Given the description of an element on the screen output the (x, y) to click on. 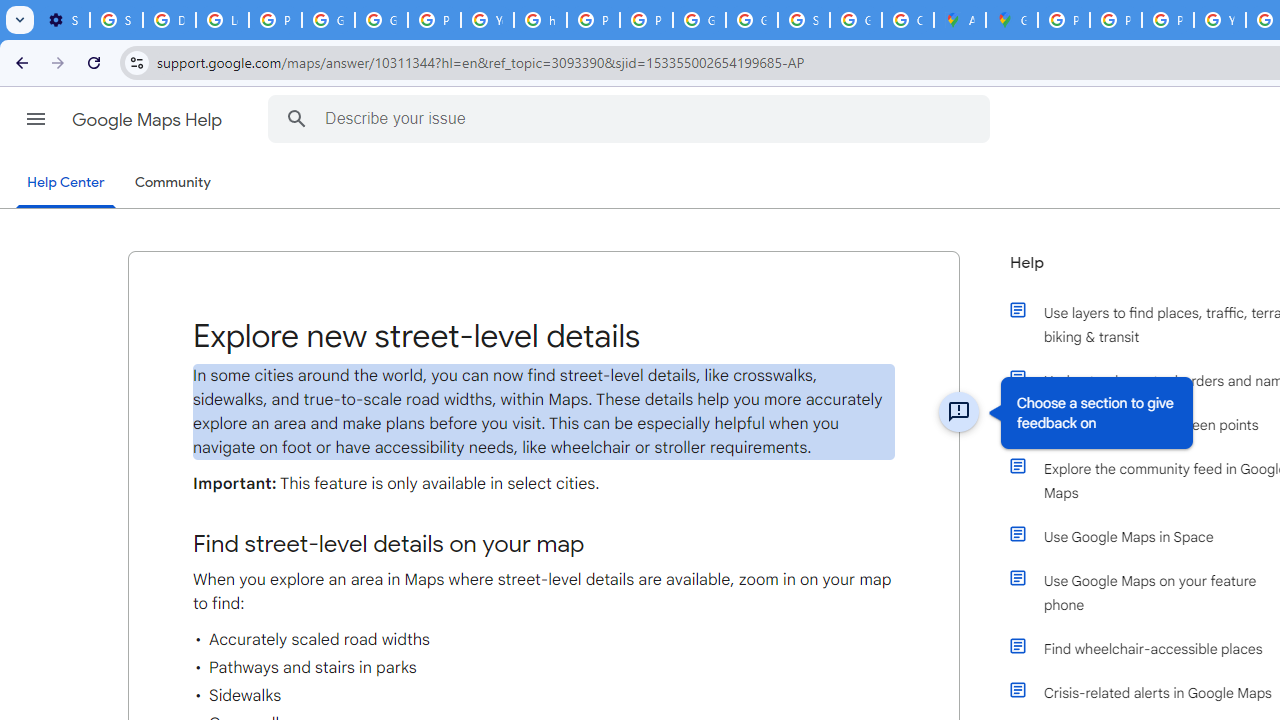
Google Account Help (328, 20)
Important: This feature is only available in select cities. (543, 484)
Sidewalks (543, 695)
Find street-level details on your map (543, 543)
YouTube (1219, 20)
Policy Accountability and Transparency - Transparency Center (1064, 20)
Describe your issue (632, 118)
Settings - On startup (63, 20)
